Given the description of an element on the screen output the (x, y) to click on. 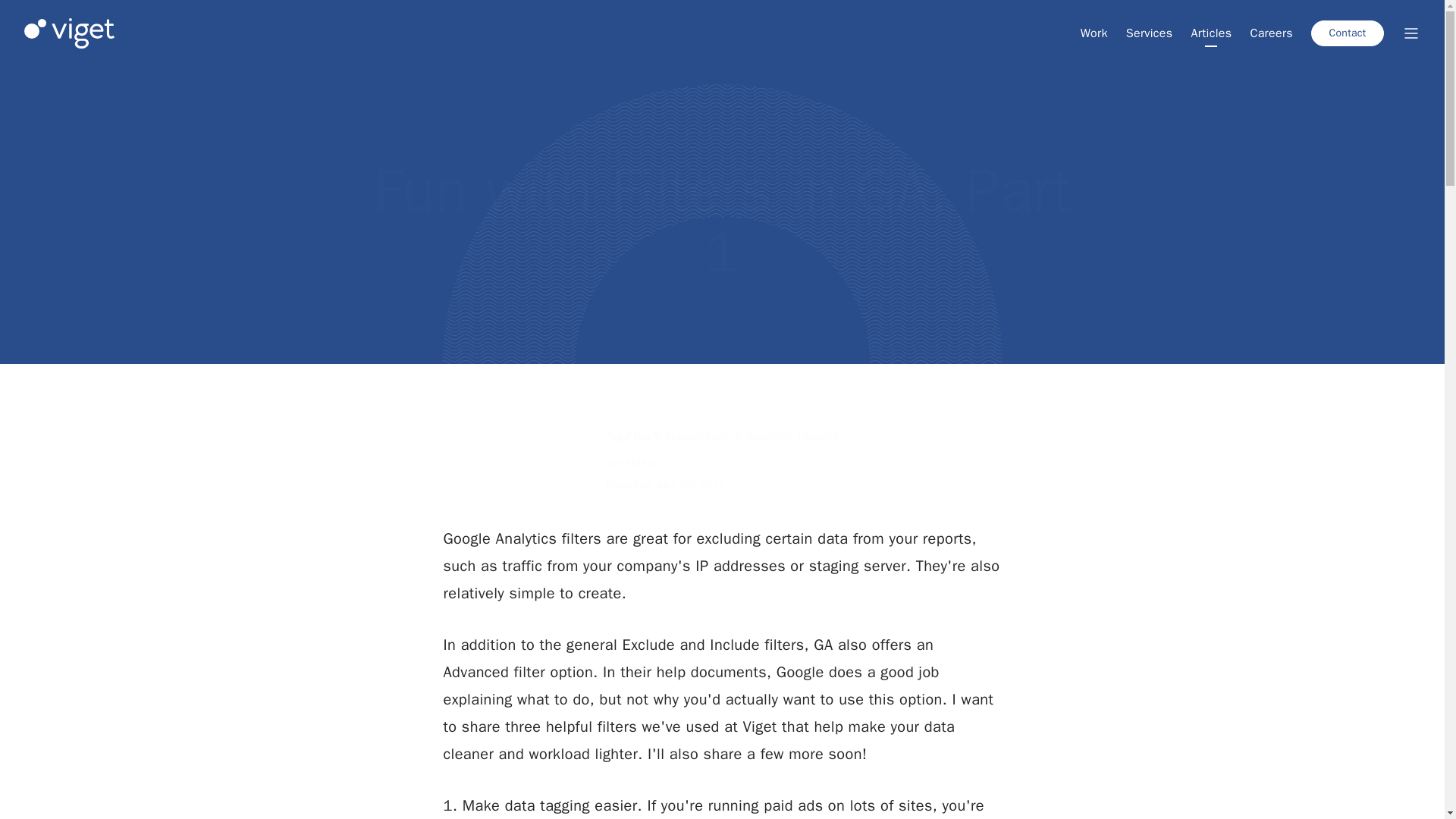
Careers (1270, 32)
Services (1149, 32)
Open Menu (1411, 33)
Work (1094, 32)
Articles (1211, 32)
Viget (69, 33)
Contact (1347, 32)
